Given the description of an element on the screen output the (x, y) to click on. 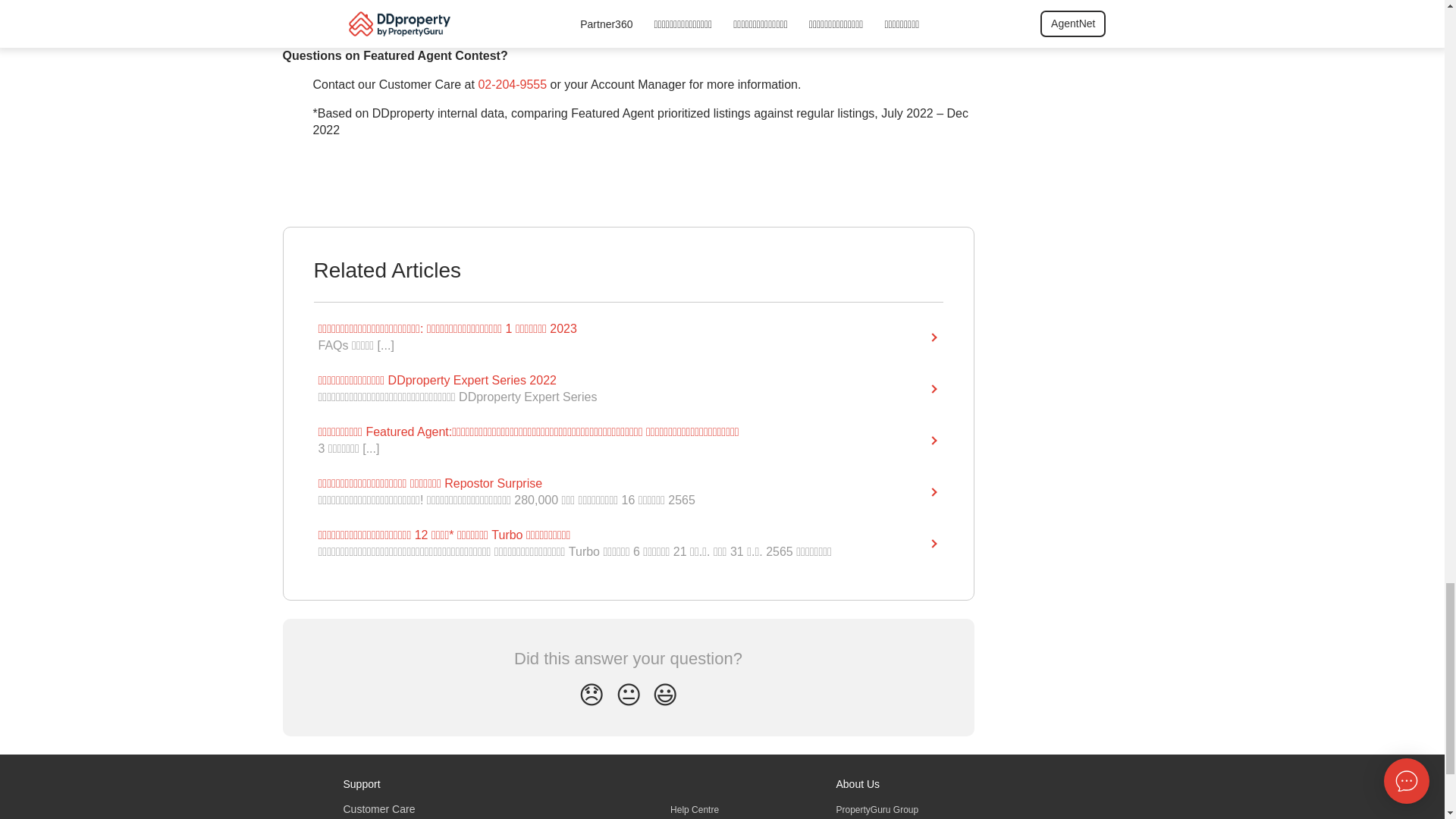
02-204-9555 (512, 90)
